Given the description of an element on the screen output the (x, y) to click on. 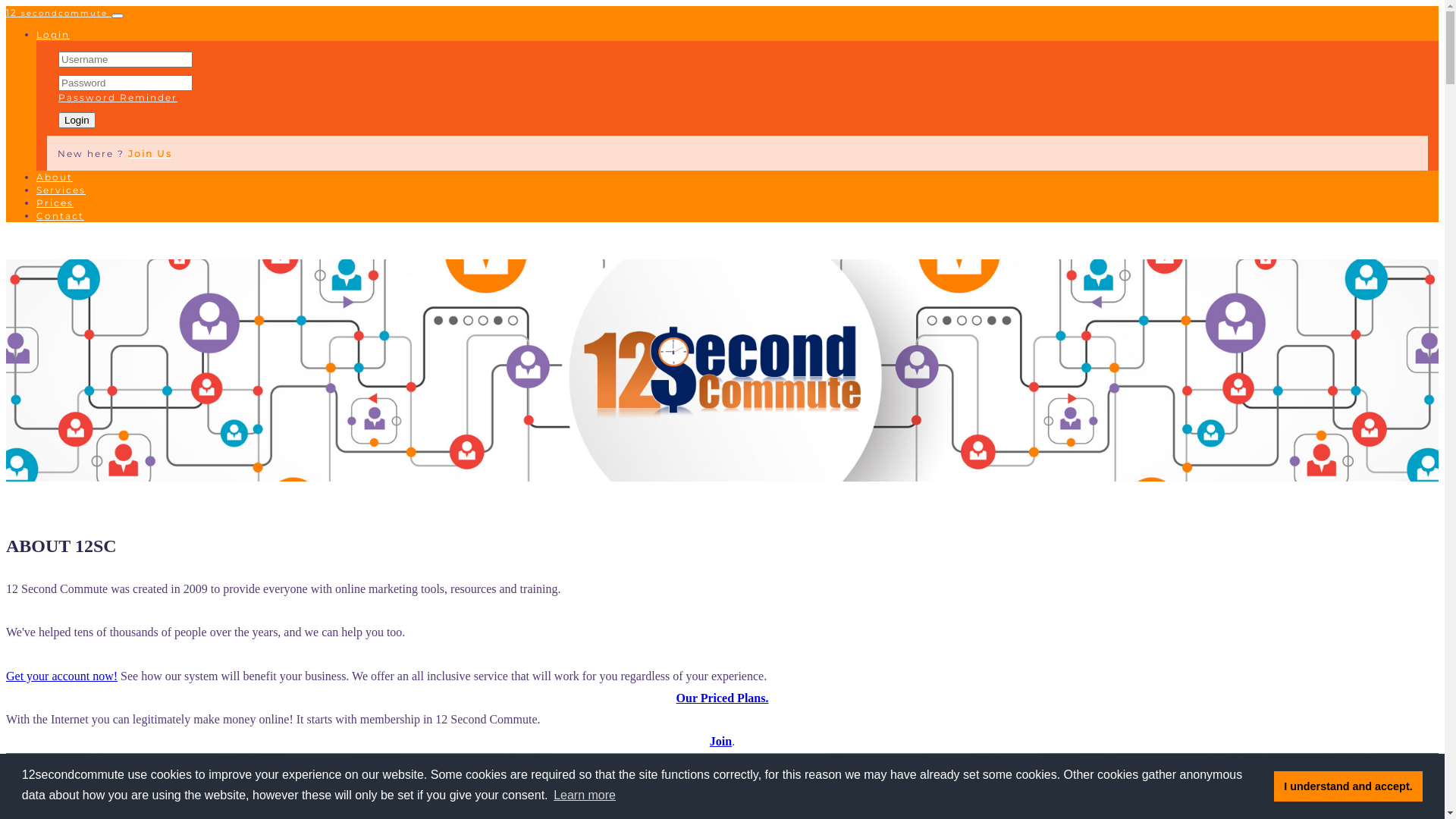
Join Element type: text (720, 740)
Password Reminder Element type: text (117, 97)
Login Element type: text (52, 34)
Prices Element type: text (54, 202)
12 secondcommute Element type: text (58, 12)
Learn more Element type: text (584, 795)
Our Priced Plans. Element type: text (722, 697)
About Element type: text (54, 176)
Services Element type: text (60, 189)
Contact Element type: text (60, 215)
Join Us Element type: text (150, 153)
Get your account now! Element type: text (61, 675)
Login Element type: text (76, 120)
I understand and accept. Element type: text (1348, 786)
